Given the description of an element on the screen output the (x, y) to click on. 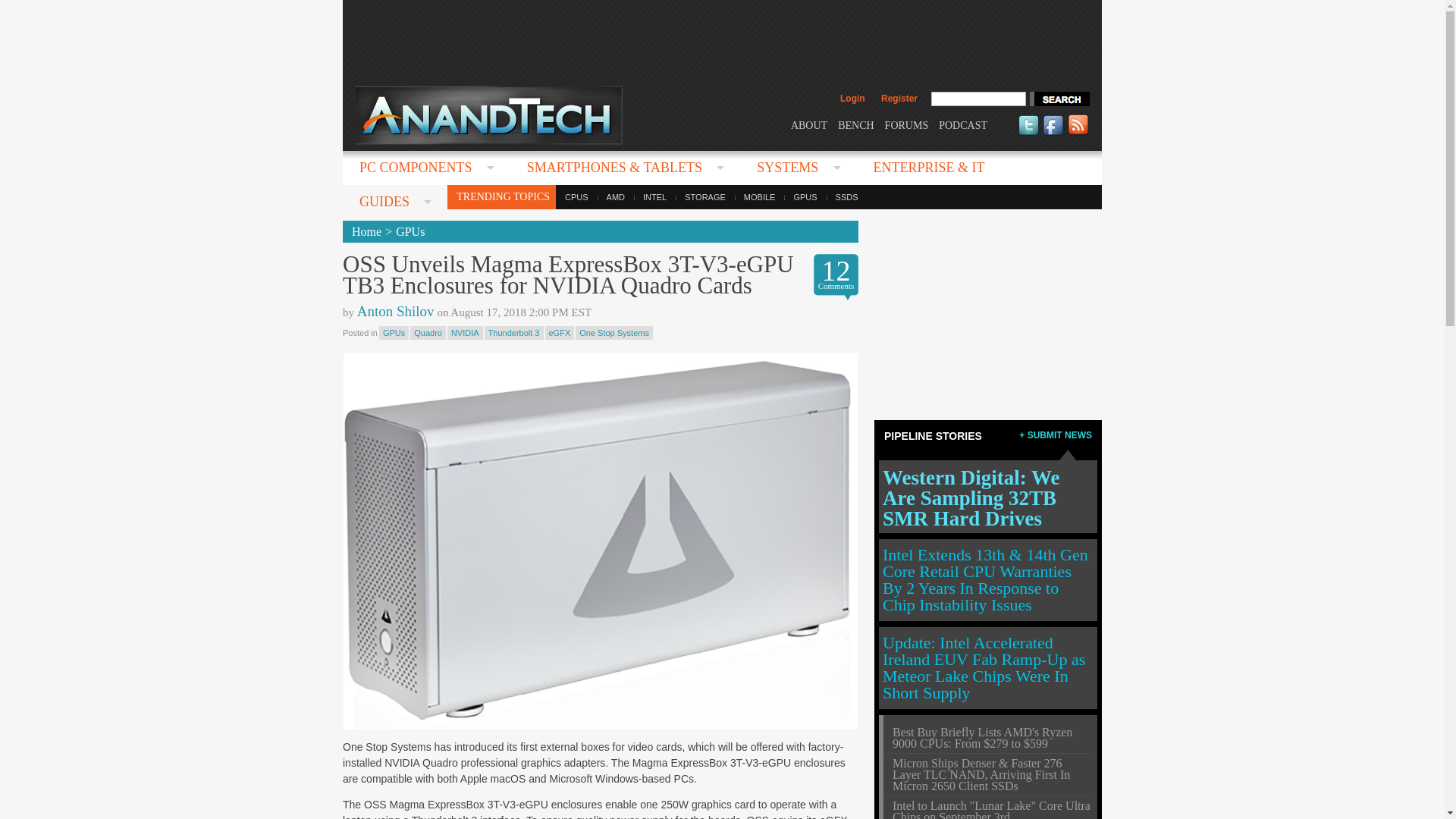
search (1059, 98)
search (1059, 98)
PODCAST (963, 125)
BENCH (855, 125)
Register (898, 98)
Login (852, 98)
FORUMS (906, 125)
search (1059, 98)
ABOUT (808, 125)
